Given the description of an element on the screen output the (x, y) to click on. 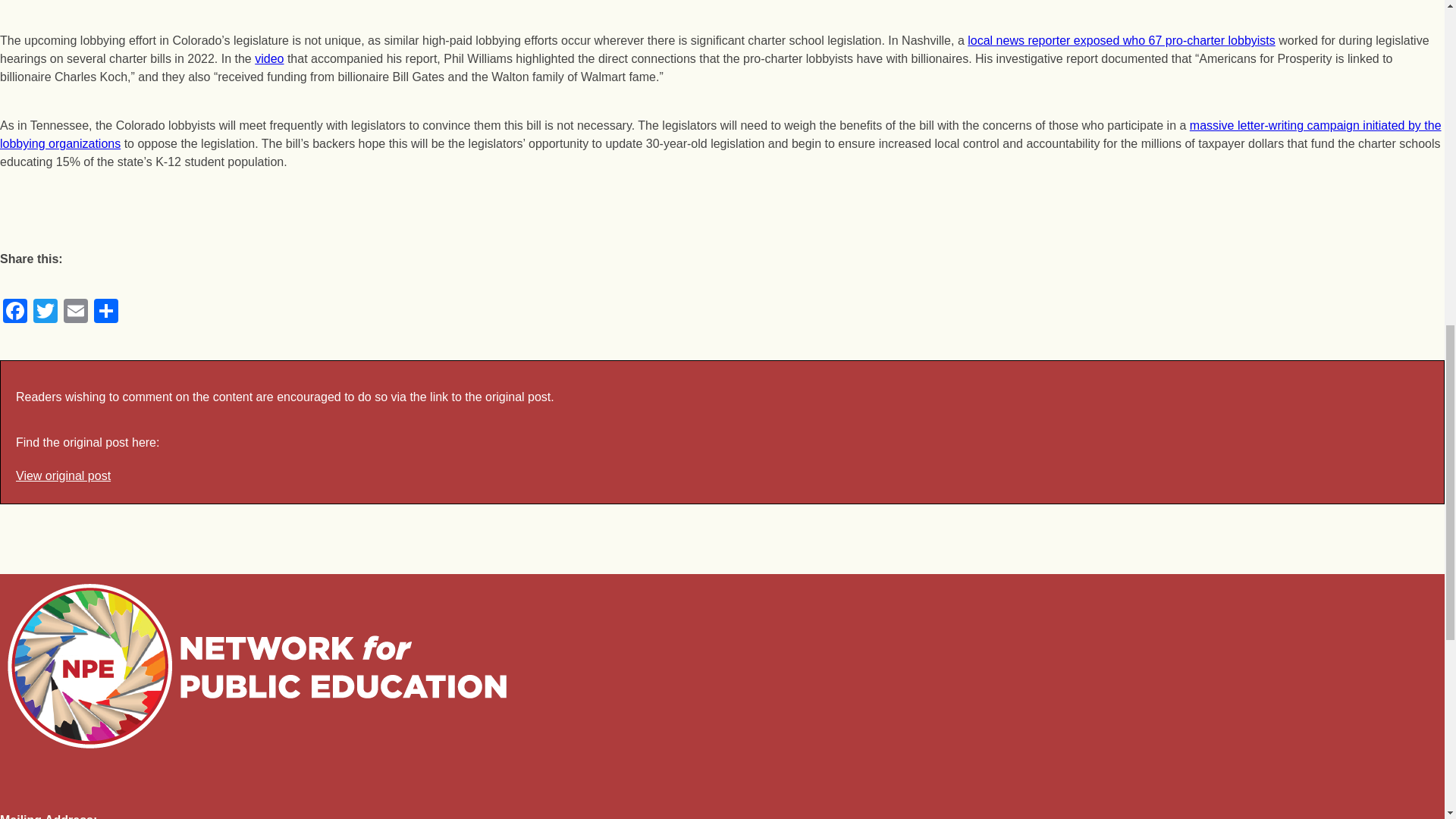
Twitter (45, 312)
Email (75, 312)
Facebook (15, 312)
